Given the description of an element on the screen output the (x, y) to click on. 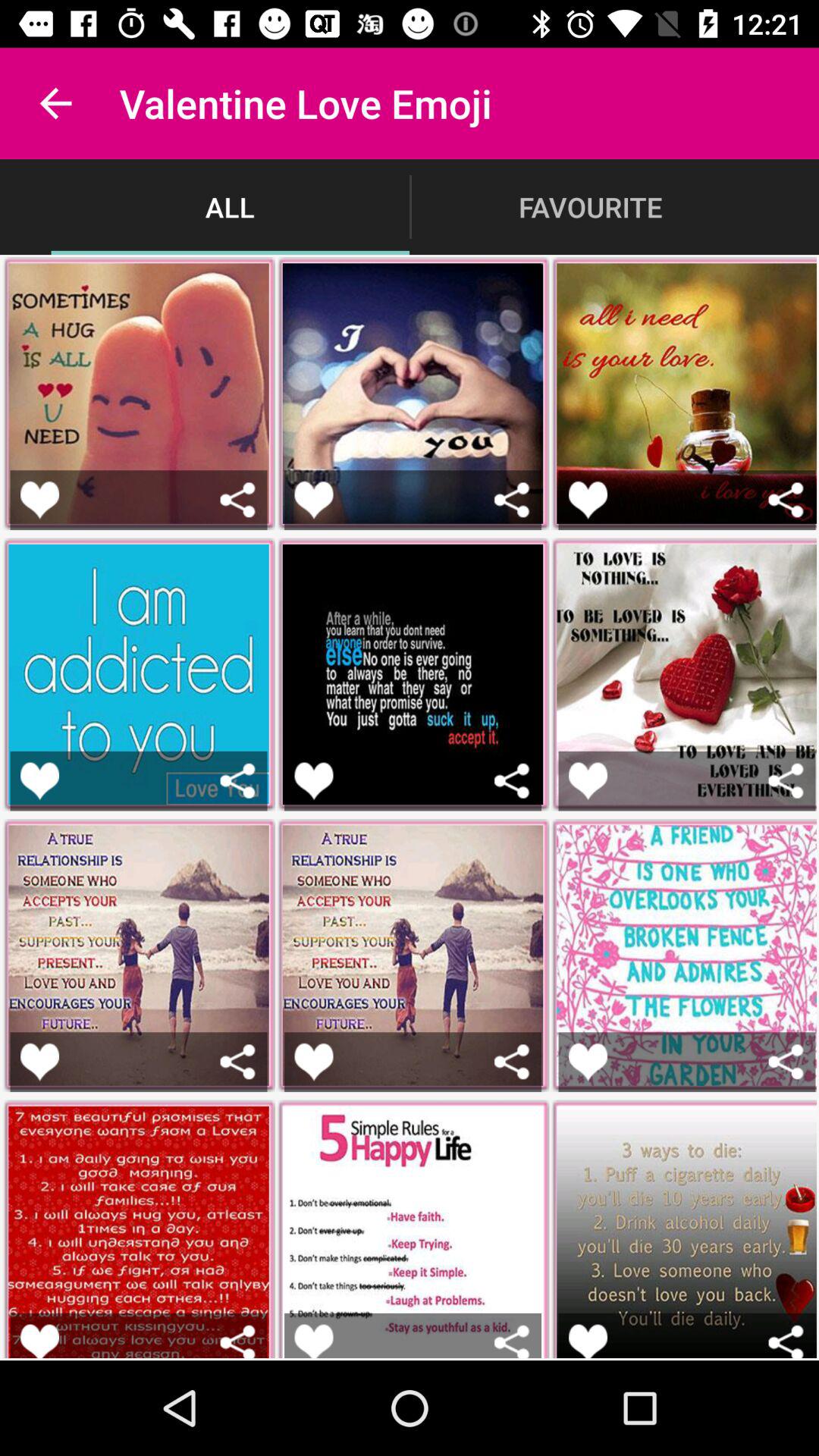
share the picture (511, 1340)
